Given the description of an element on the screen output the (x, y) to click on. 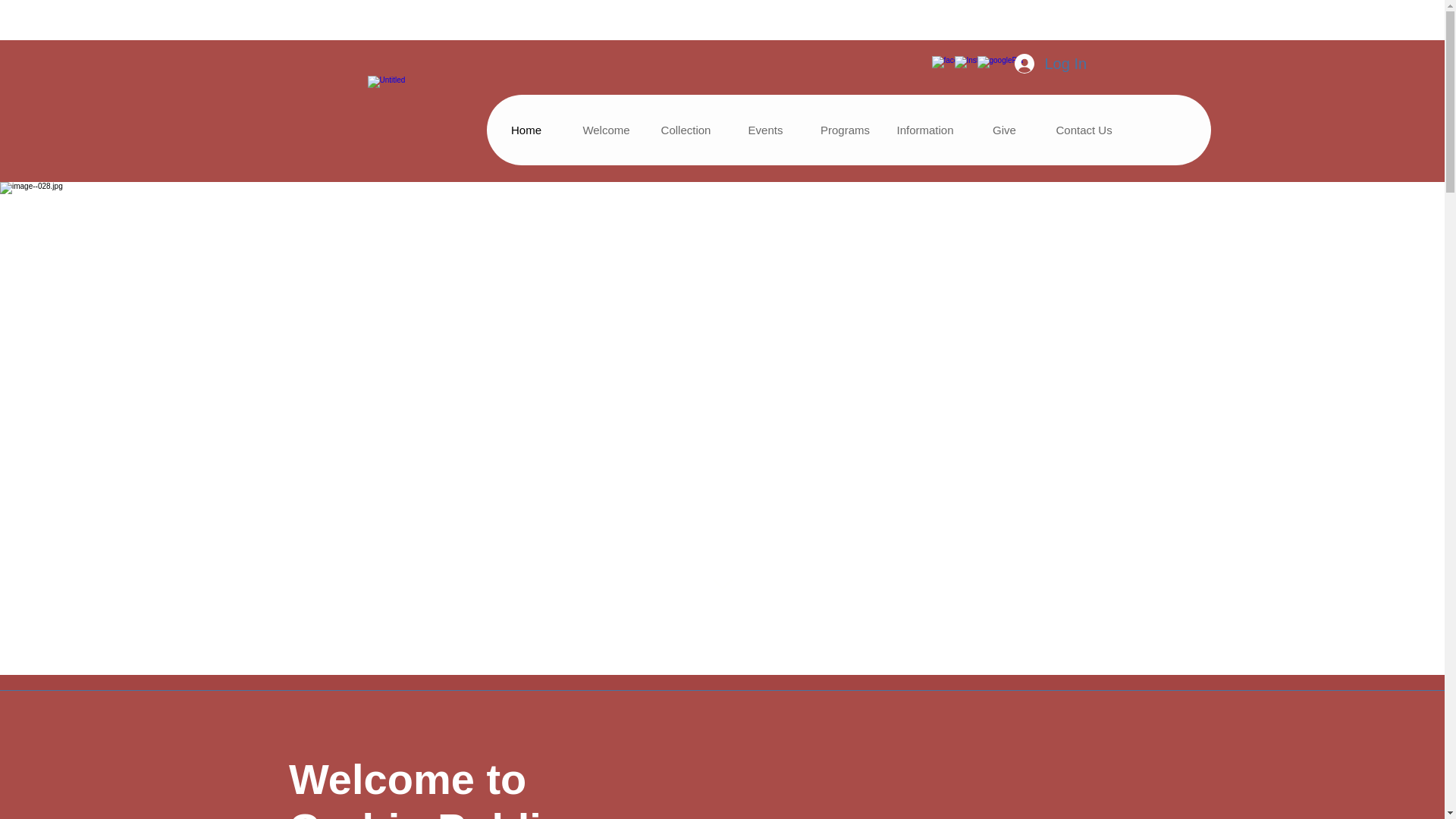
Events (765, 130)
Programs (845, 130)
Give (1003, 130)
Collection (685, 130)
Contact Us (1082, 130)
Home (526, 130)
Information (923, 130)
Log In (1040, 63)
Welcome (605, 130)
